Given the description of an element on the screen output the (x, y) to click on. 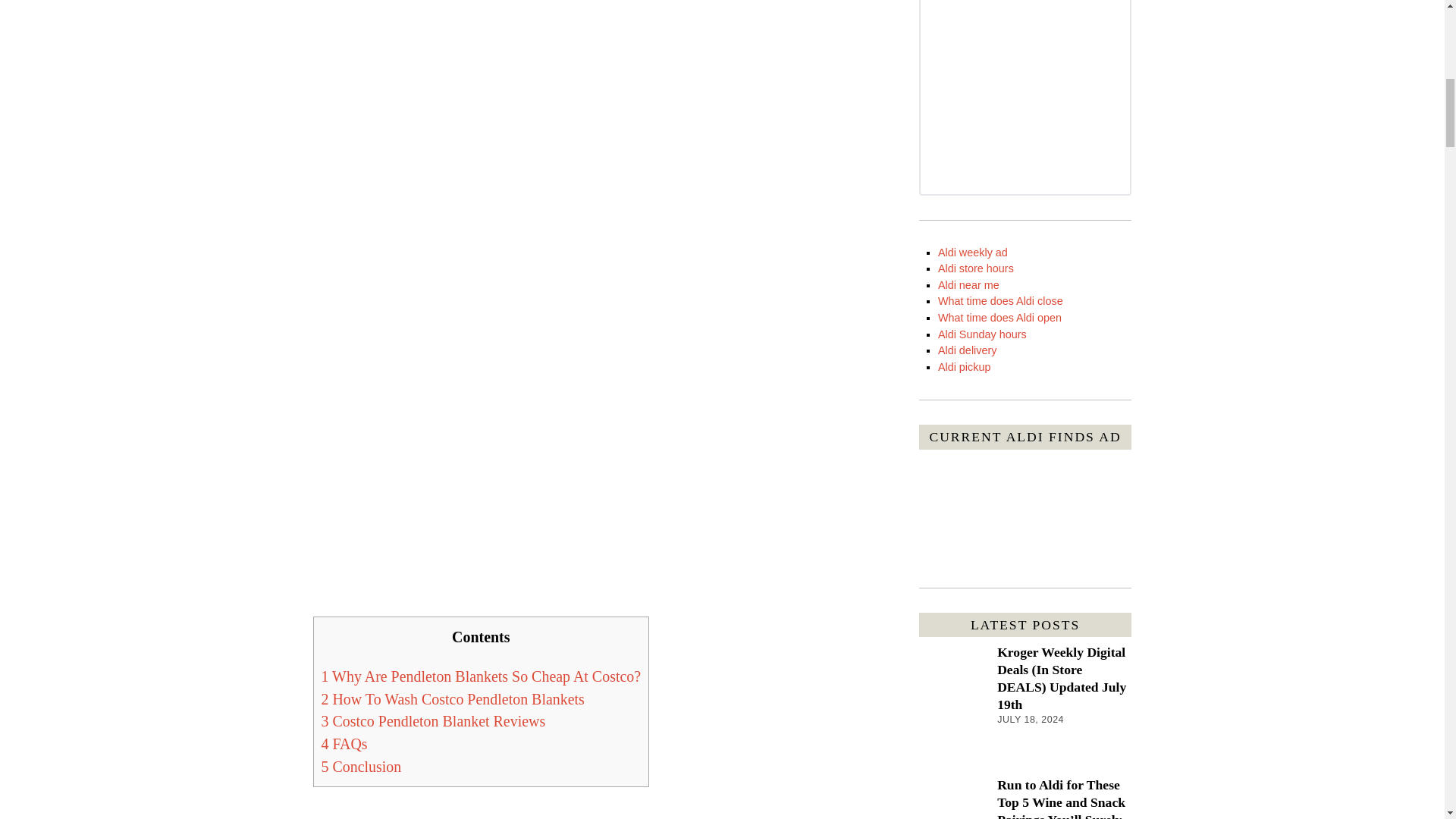
2 How To Wash Costco Pendleton Blankets (453, 698)
1 Why Are Pendleton Blankets So Cheap At Costco? (481, 676)
